Given the description of an element on the screen output the (x, y) to click on. 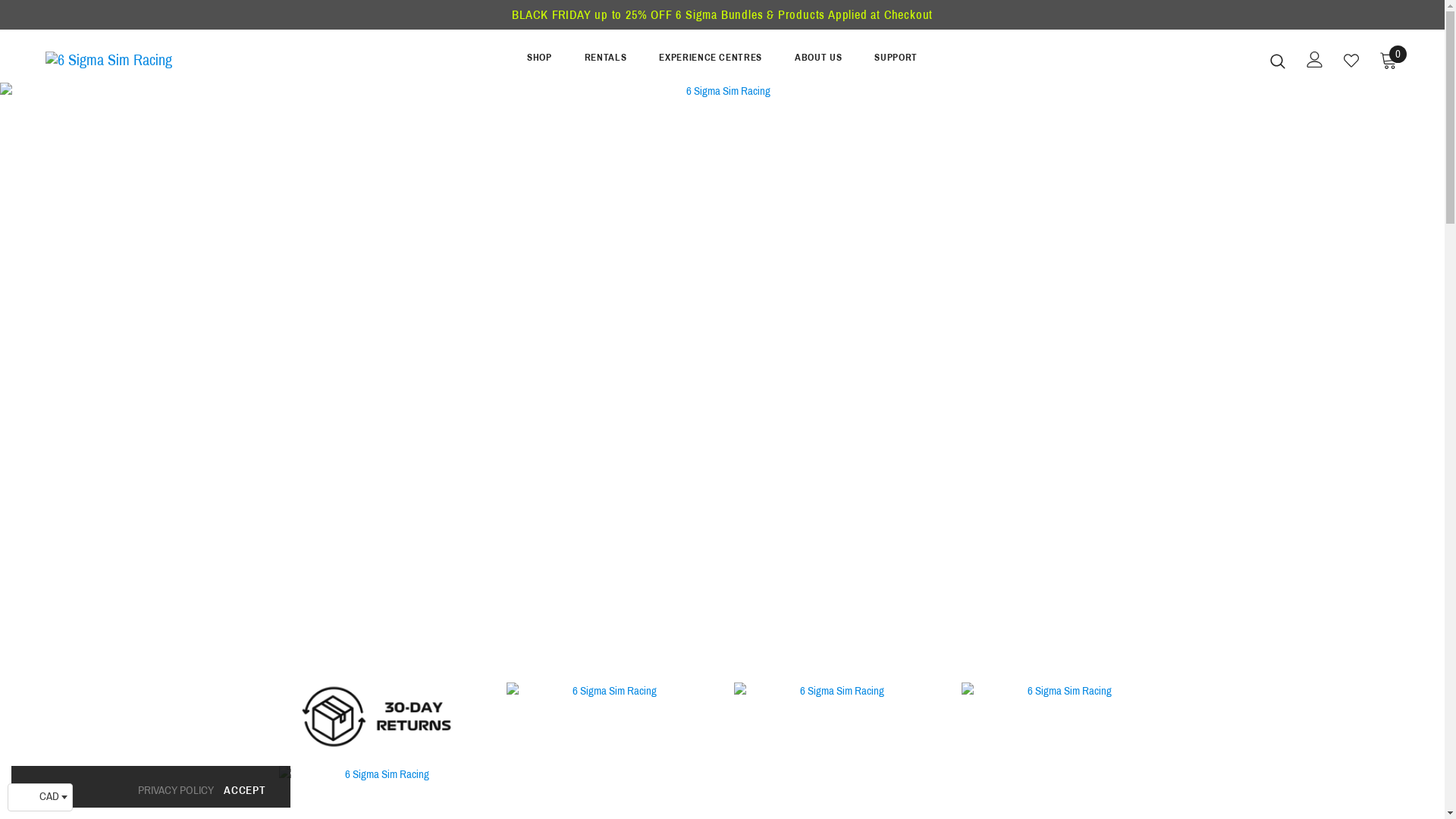
SUPPORT Element type: text (895, 61)
ABOUT US Element type: text (817, 61)
My Wish Lists Element type: hover (1350, 60)
SHOP Element type: text (539, 61)
User Icon Element type: hover (1314, 59)
PRIVACY POLICY Element type: text (175, 790)
0 Element type: text (1388, 59)
EXPERIENCE CENTRES Element type: text (710, 61)
Logo Element type: hover (134, 59)
Search Icon Element type: hover (1277, 60)
RENTALS Element type: text (605, 61)
